Given the description of an element on the screen output the (x, y) to click on. 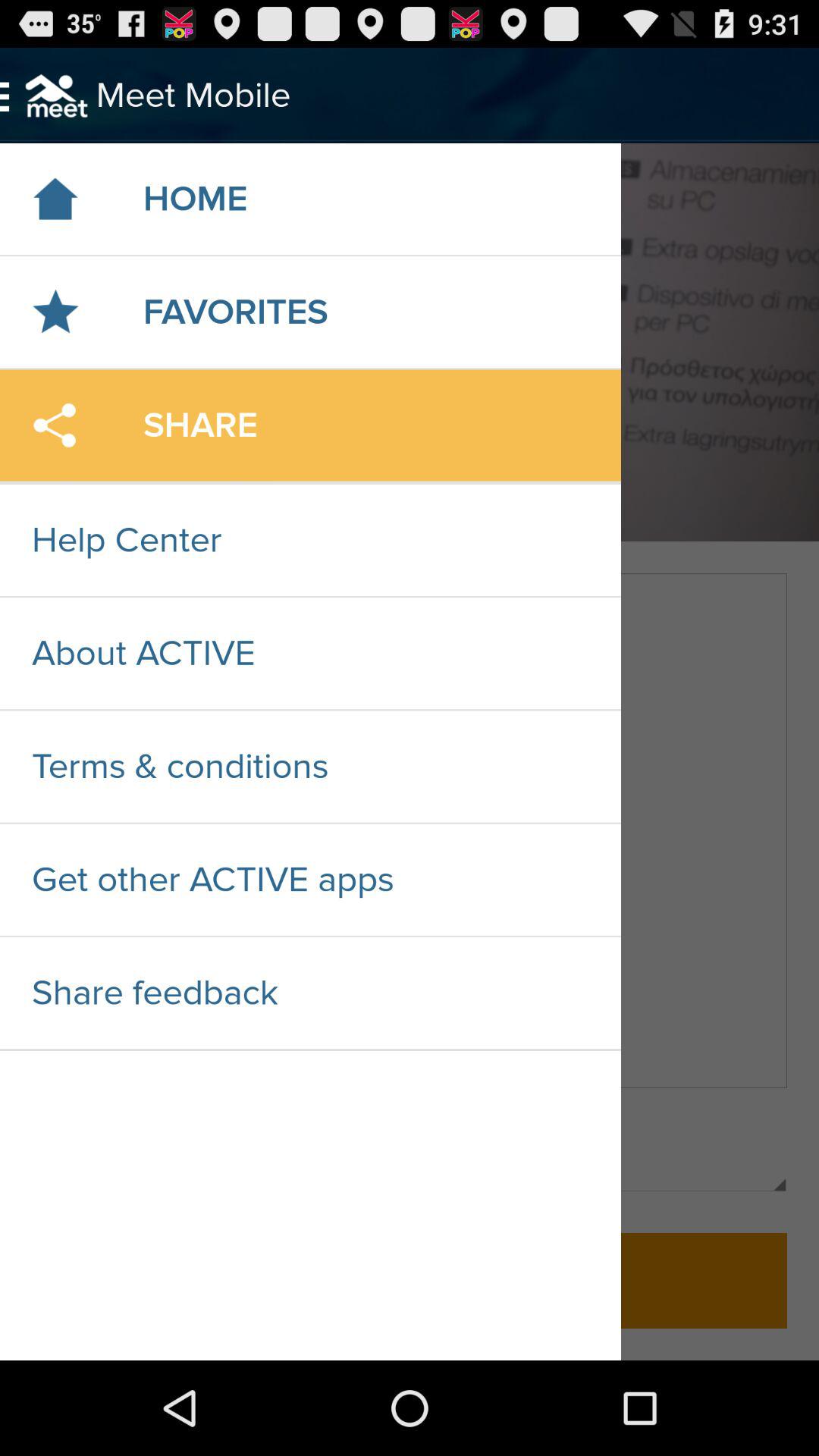
click on share icon (55, 425)
click on the icon which is left side of home (55, 198)
click on star option which is beside favorites (55, 312)
